Given the description of an element on the screen output the (x, y) to click on. 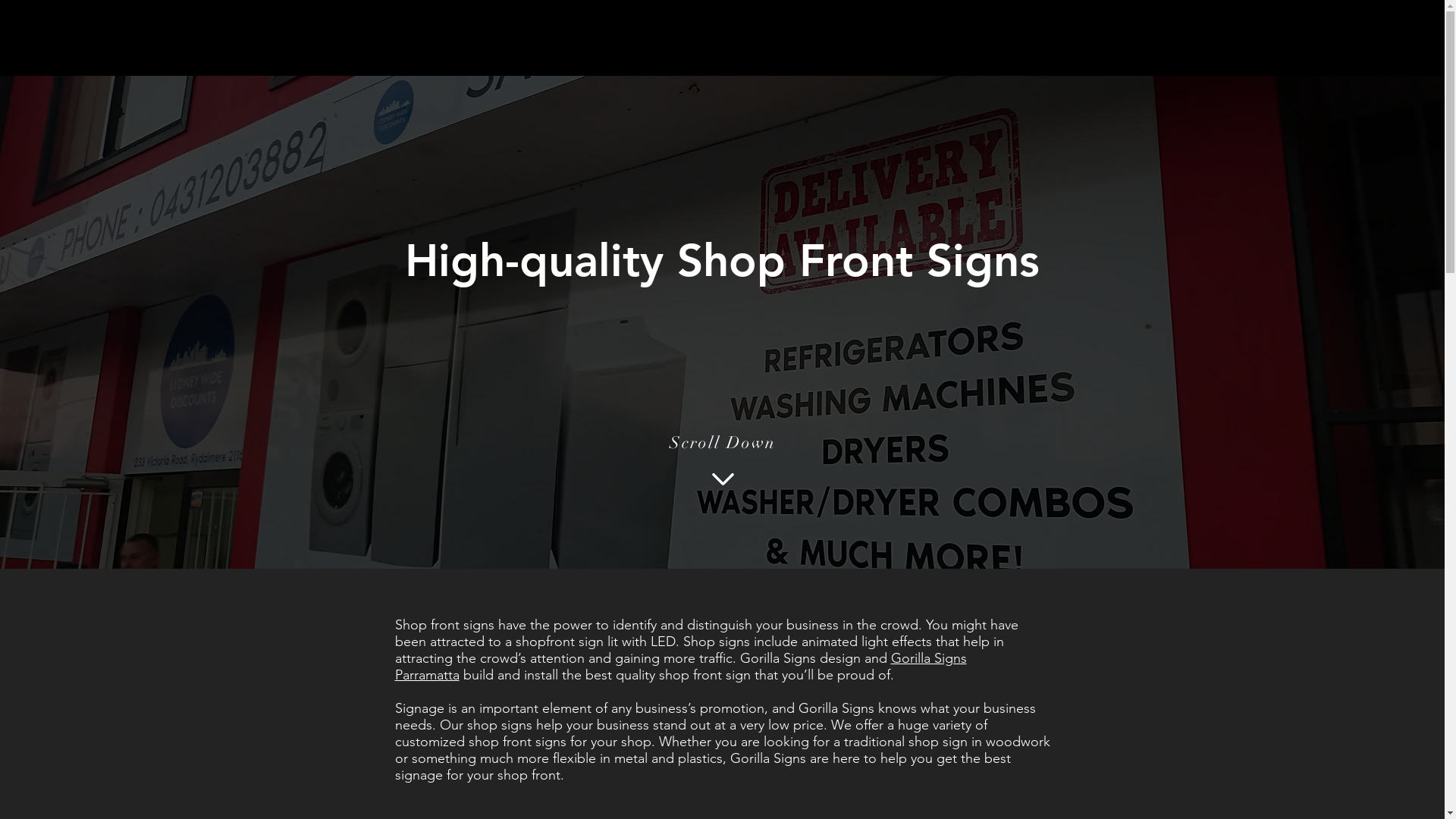
Gorilla Signs Parramatta Element type: text (680, 666)
